Given the description of an element on the screen output the (x, y) to click on. 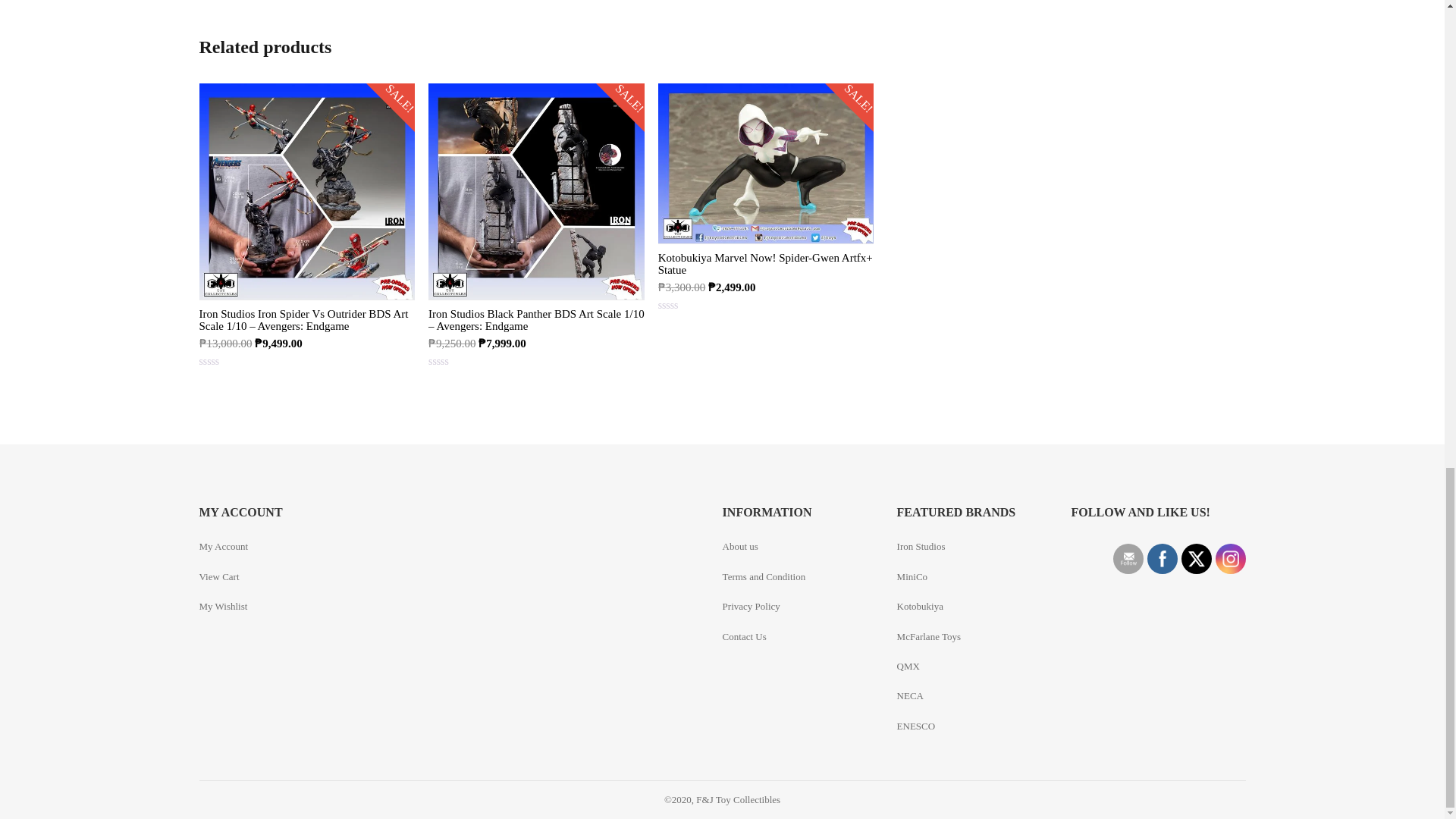
Twitter (1196, 559)
Follow by Email (1127, 558)
Facebook (1162, 558)
